Given the description of an element on the screen output the (x, y) to click on. 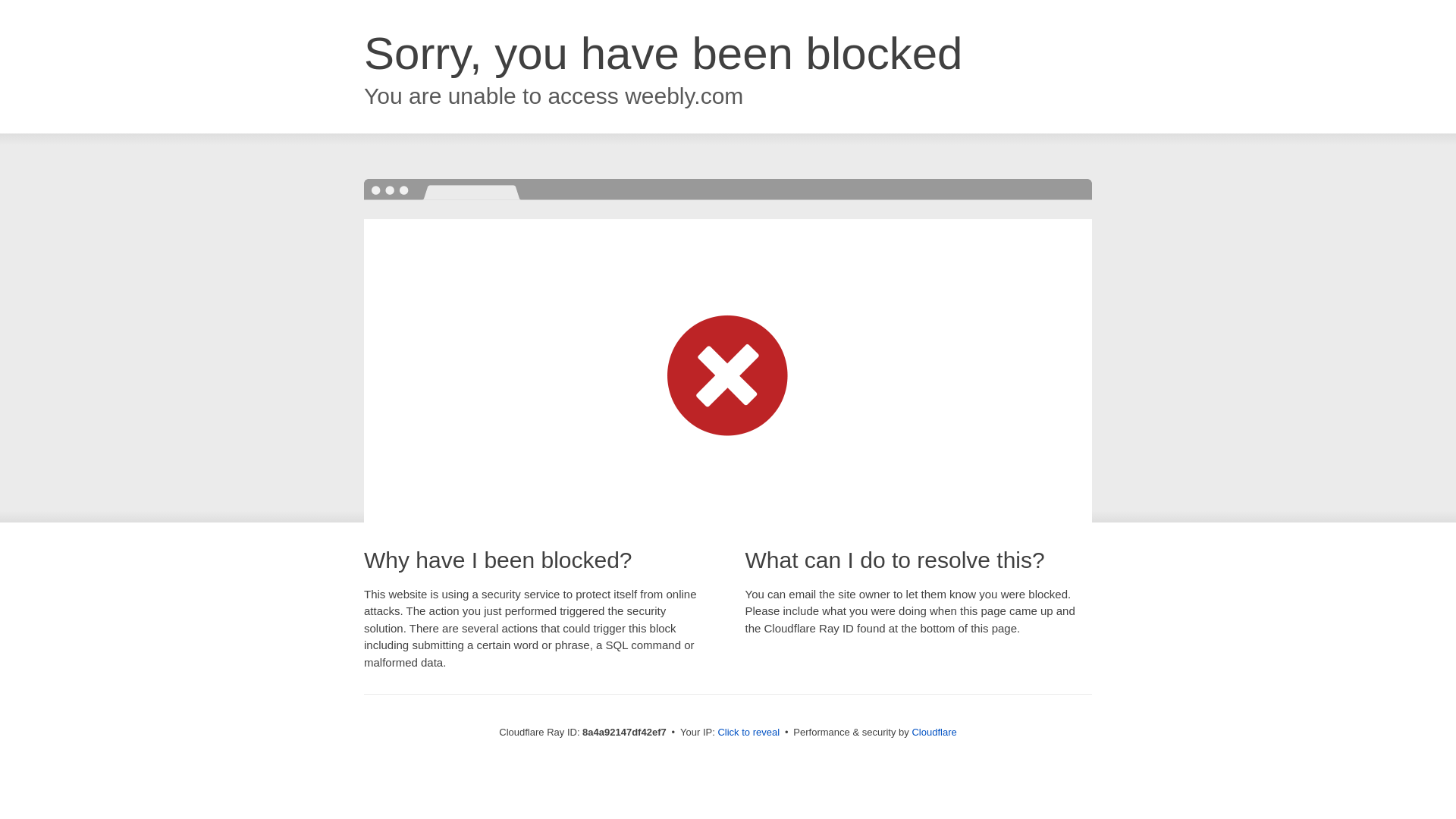
Cloudflare (933, 731)
Click to reveal (747, 732)
